Given the description of an element on the screen output the (x, y) to click on. 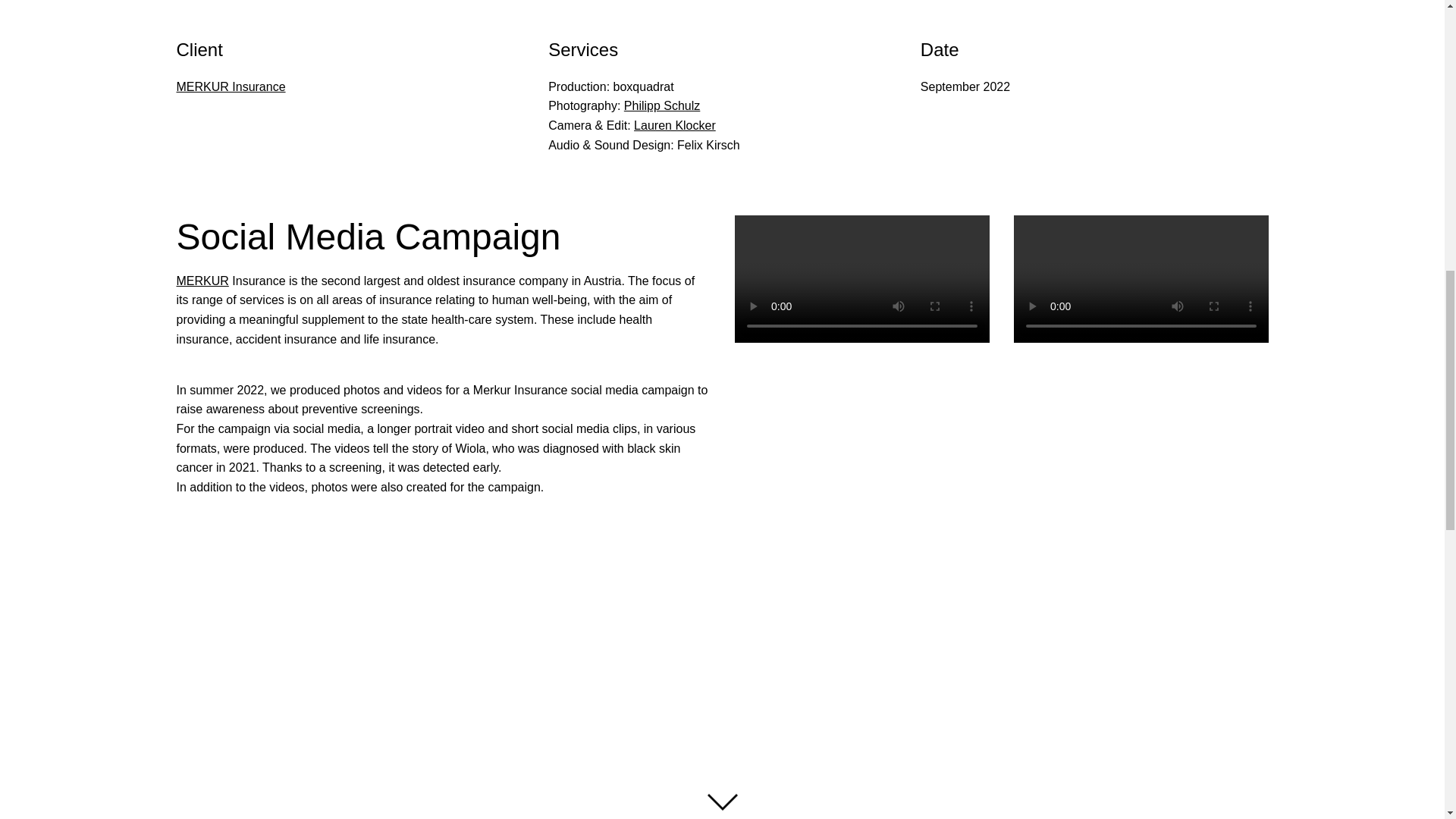
Lauren Klocker (674, 124)
MERKUR Insurance (230, 86)
MERKUR (202, 280)
Philipp Schulz (662, 105)
